Given the description of an element on the screen output the (x, y) to click on. 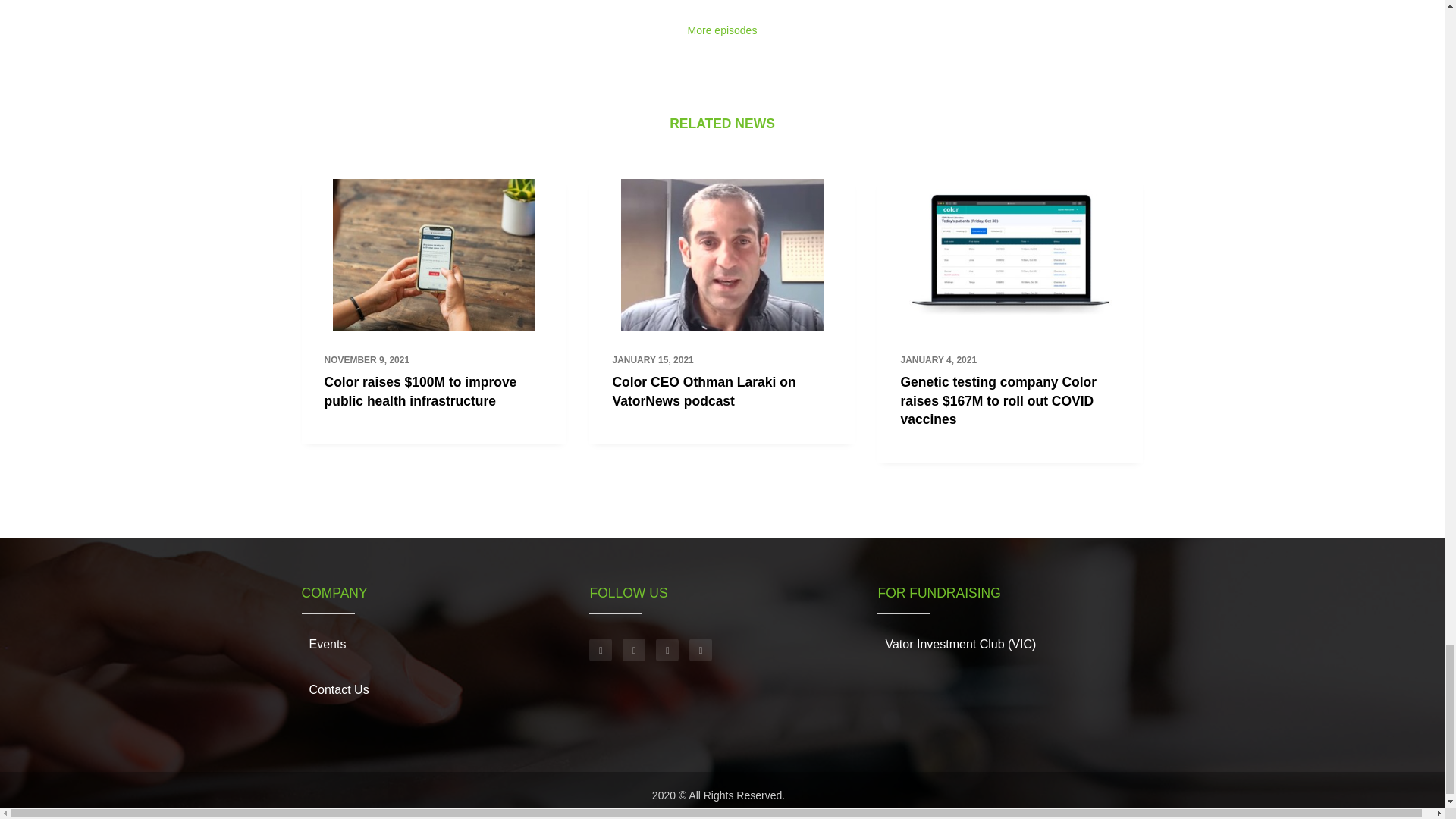
More episodes (722, 30)
